Given the description of an element on the screen output the (x, y) to click on. 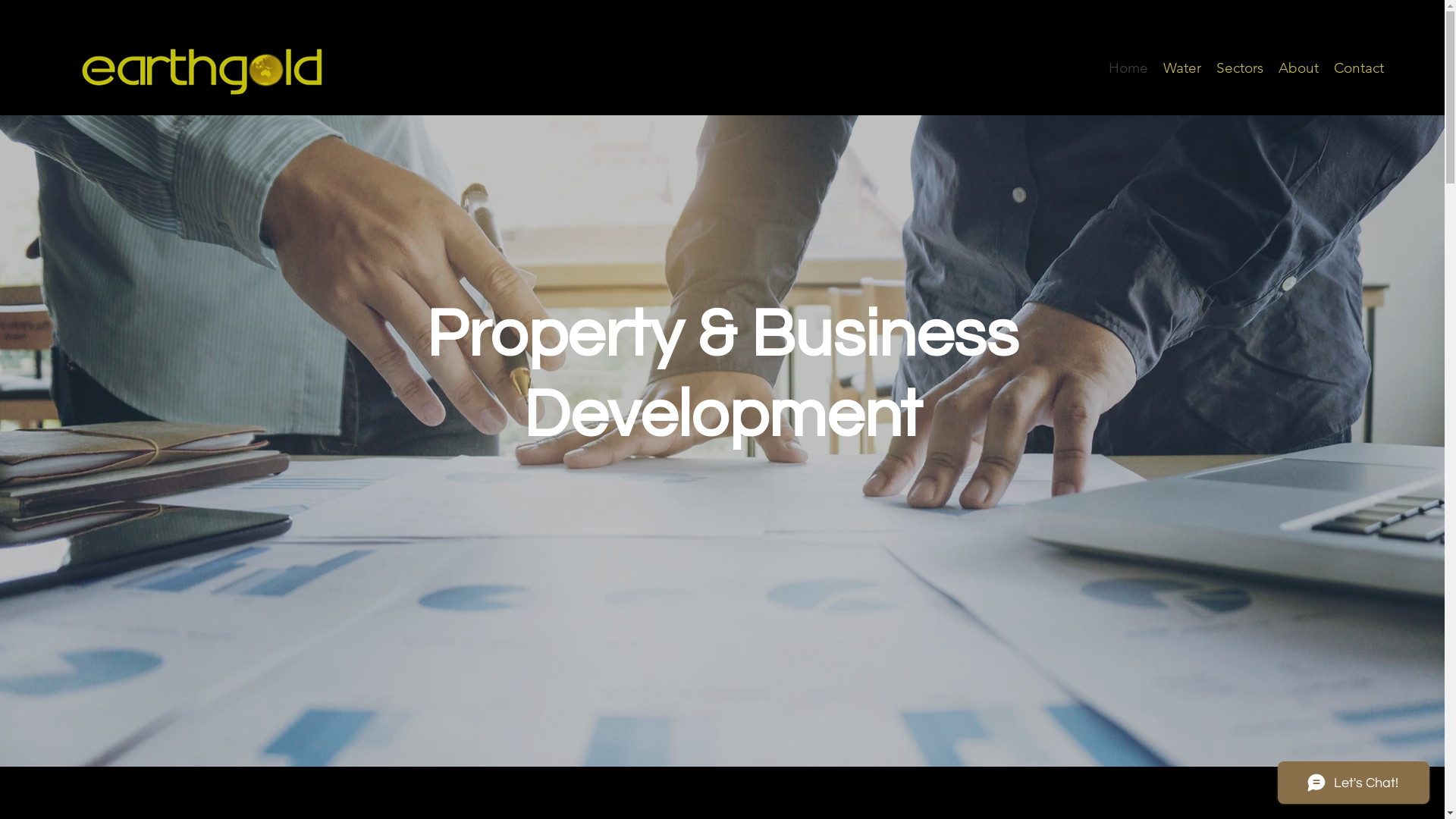
Home Element type: text (1128, 67)
Contact Element type: text (1358, 67)
Sectors Element type: text (1239, 67)
About Element type: text (1298, 67)
